Given the description of an element on the screen output the (x, y) to click on. 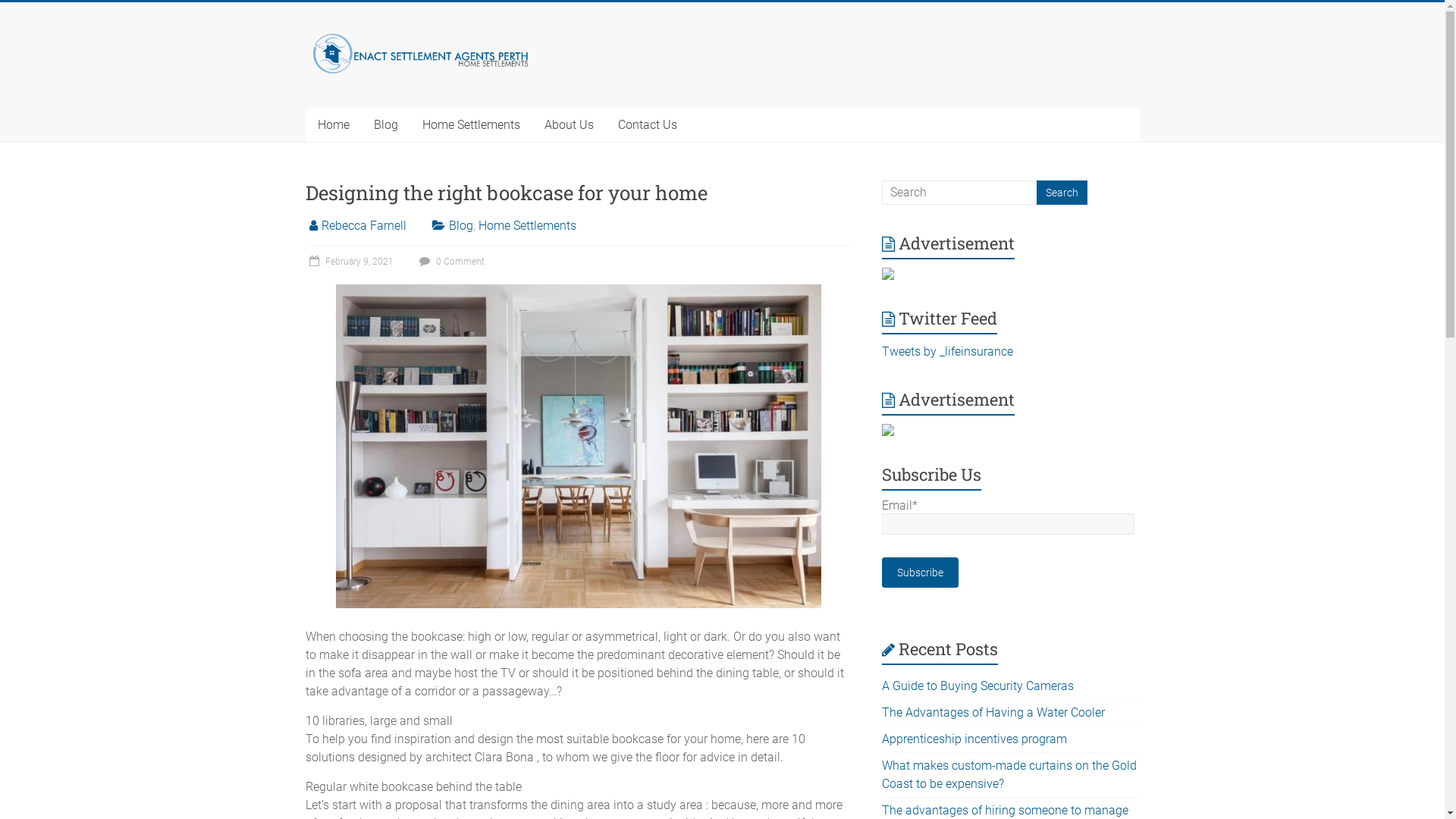
A Guide to Buying Security Cameras Element type: text (977, 685)
Contact Us Element type: text (646, 124)
Tweets by _lifeinsurance Element type: text (947, 351)
Subscribe Element type: text (919, 572)
About Us Element type: text (568, 124)
Enact Settlement Agents Perth Element type: text (374, 89)
Home Settlements Element type: text (470, 124)
February 9, 2021 Element type: text (348, 261)
Search Element type: text (1060, 192)
The Advantages of Having a Water Cooler Element type: text (992, 712)
Apprenticeship incentives program Element type: text (973, 738)
0 Comment Element type: text (449, 261)
Rebecca Farnell Element type: text (363, 225)
Home Element type: text (332, 124)
Blog Element type: text (460, 225)
Home Settlements Element type: text (526, 225)
Blog Element type: text (384, 124)
